Given the description of an element on the screen output the (x, y) to click on. 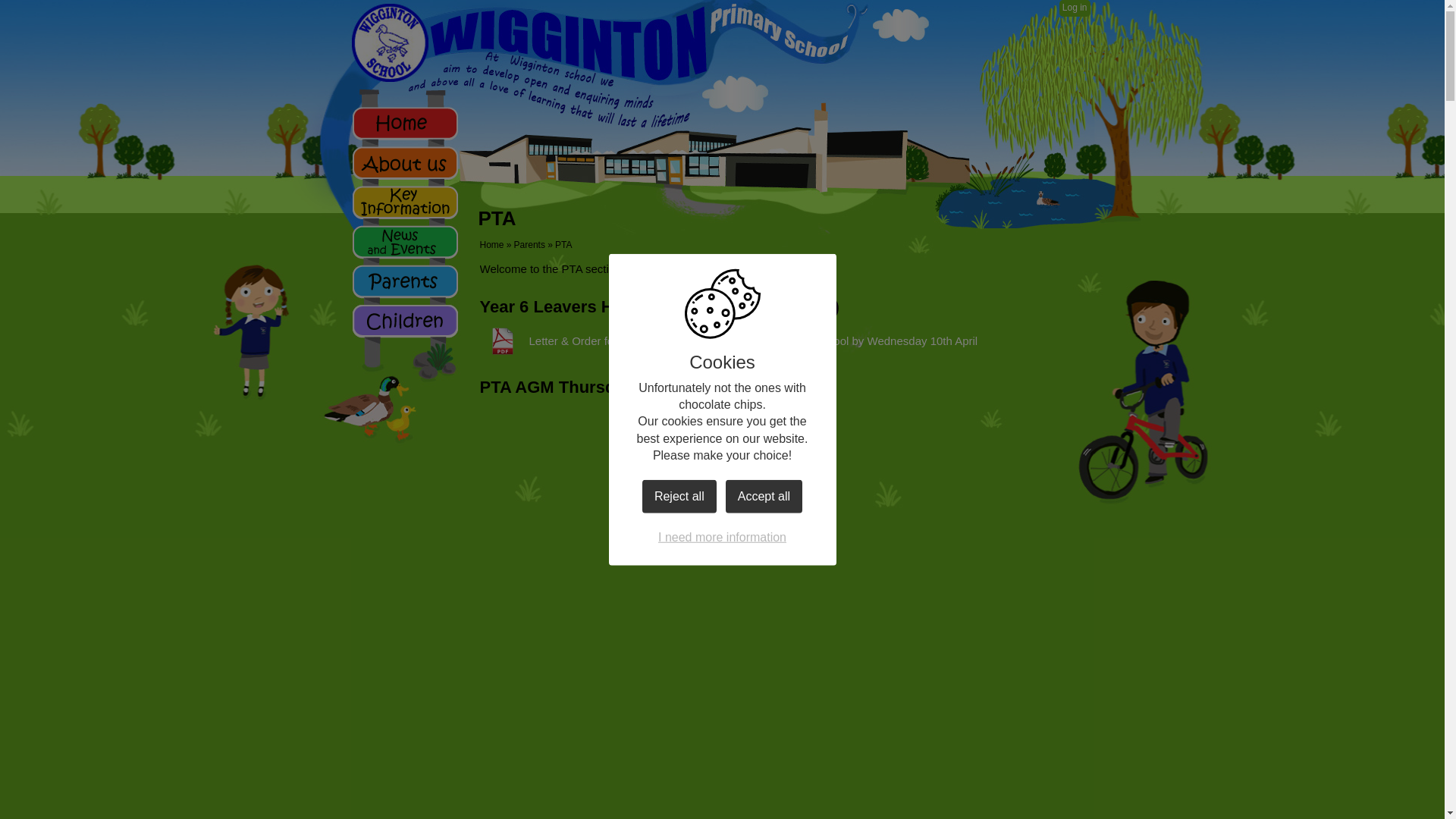
Home Page (600, 43)
Home Page (600, 43)
Home (491, 244)
Parents (528, 244)
Log in (1074, 8)
PTA (563, 244)
